Given the description of an element on the screen output the (x, y) to click on. 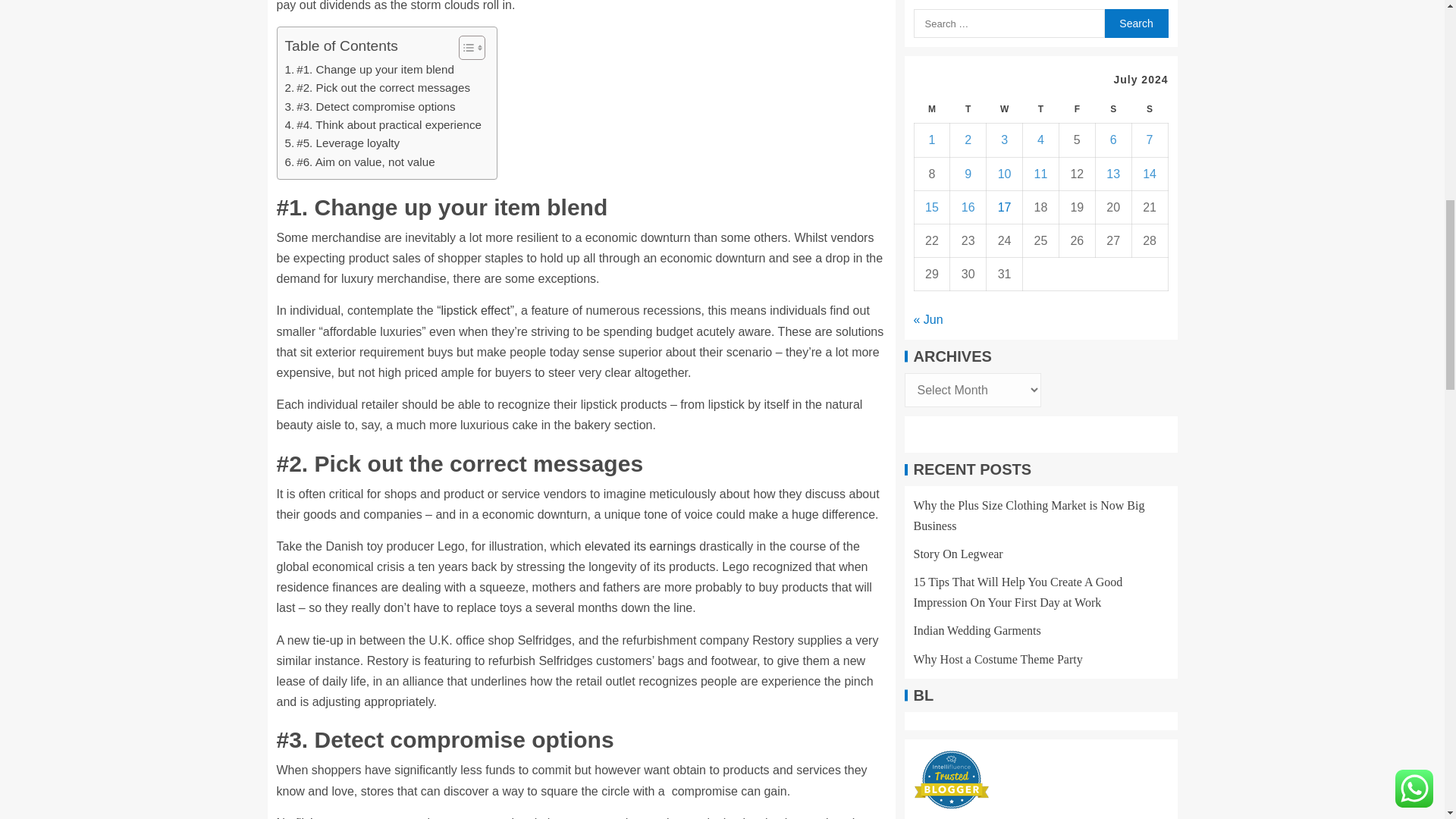
lipstick effect (476, 309)
tie-up (328, 640)
elevated its earnings (640, 545)
